Given the description of an element on the screen output the (x, y) to click on. 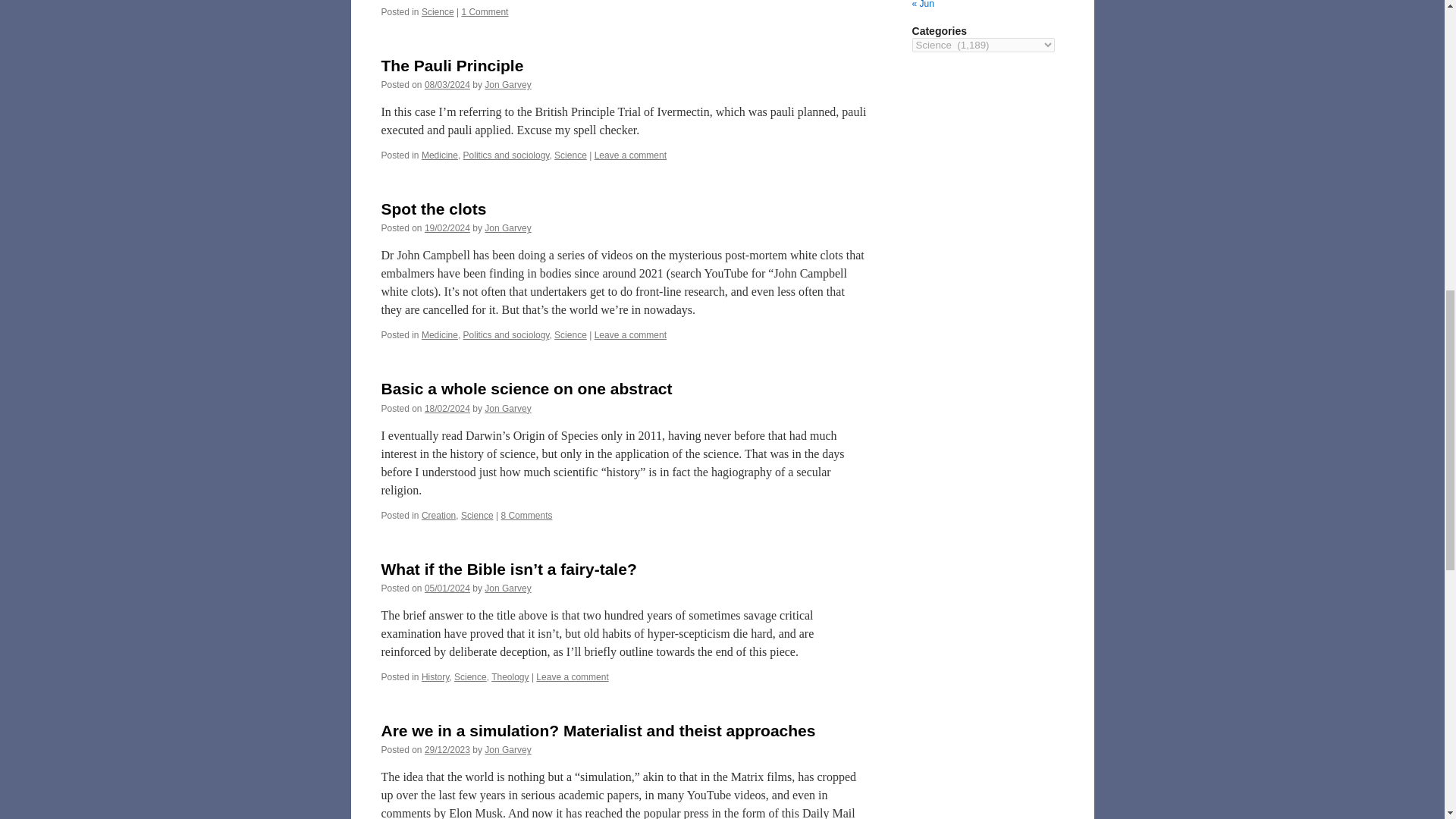
Spot the clots (433, 208)
09:49 am (447, 84)
View all posts by Jon Garvey (507, 227)
View all posts by Jon Garvey (507, 408)
Leave a comment (630, 154)
View all posts by Jon Garvey (507, 84)
View all posts by Jon Garvey (507, 588)
The Pauli Principle (451, 65)
12:03 pm (447, 588)
Science (570, 154)
Politics and sociology (506, 154)
Medicine (440, 154)
01:26 pm (447, 227)
Science (438, 11)
1 Comment (484, 11)
